Given the description of an element on the screen output the (x, y) to click on. 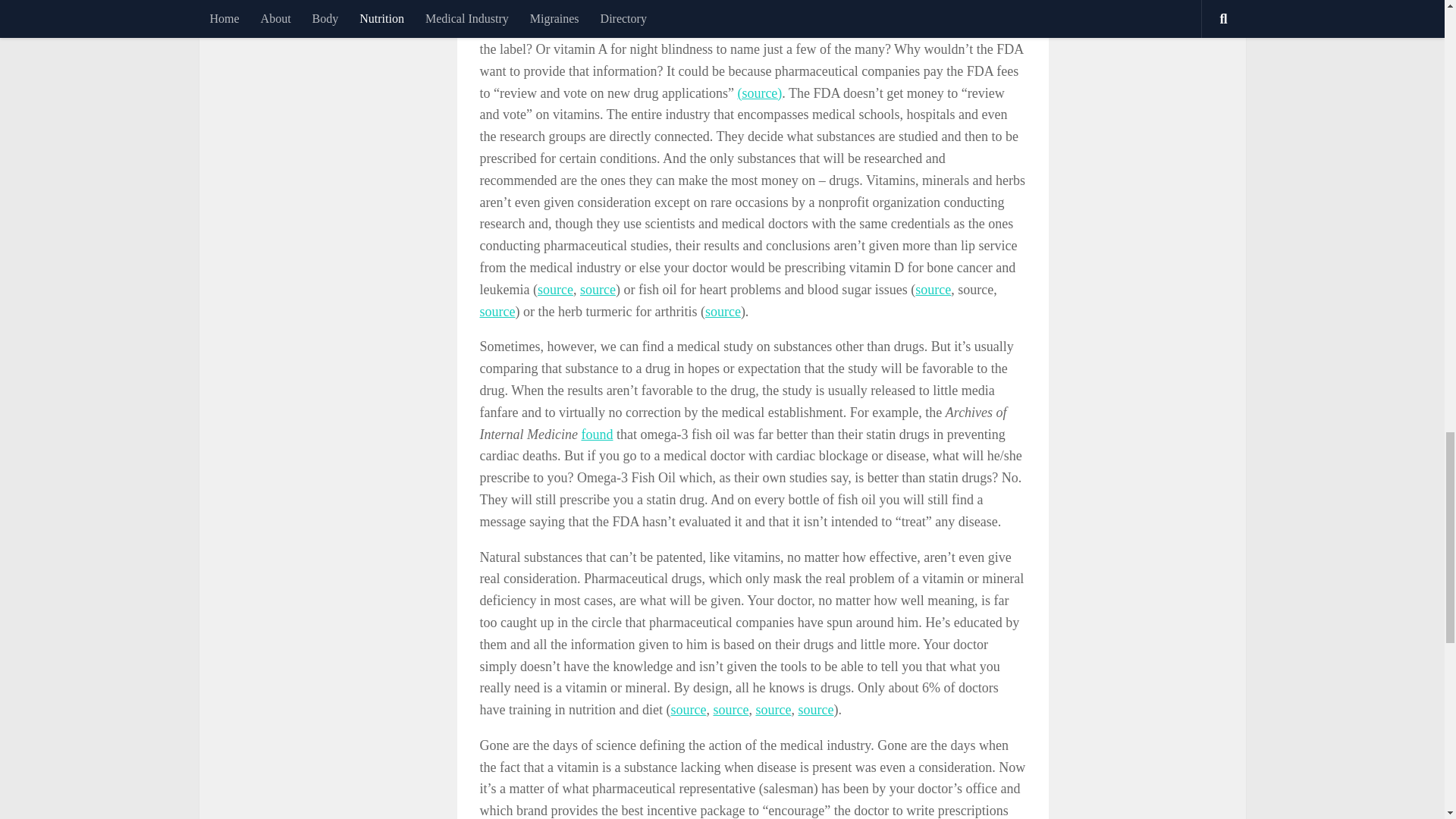
source (722, 311)
source (687, 709)
source (555, 289)
source (932, 289)
source (597, 289)
found (596, 434)
source (497, 311)
